Given the description of an element on the screen output the (x, y) to click on. 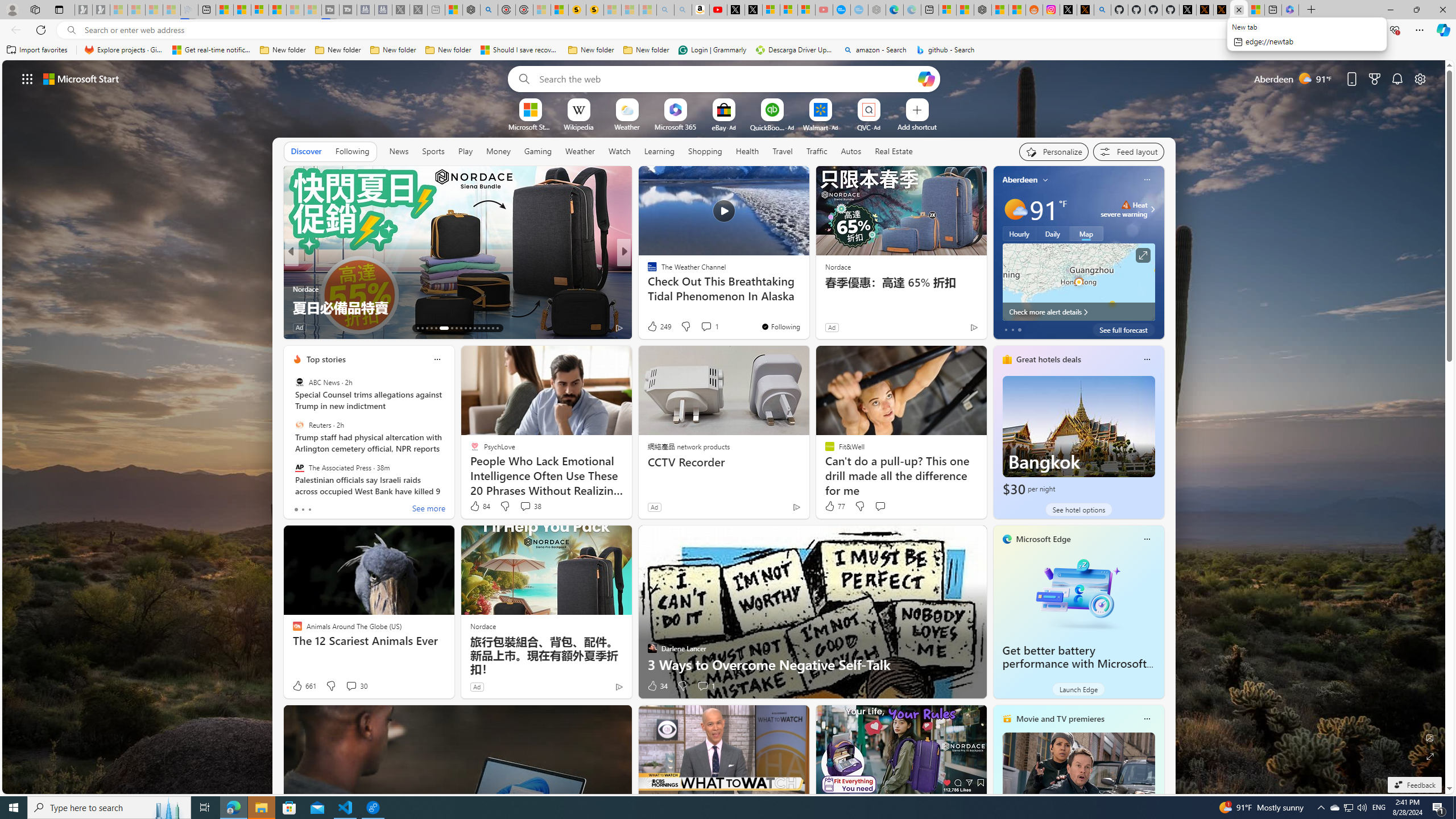
Gloom - YouTube - Sleeping (823, 9)
Weather (580, 151)
amazon - Search (875, 49)
github - Search (1102, 9)
661 Like (303, 685)
34 Like (657, 685)
Favorites bar (728, 49)
Nordace - Nordace has arrived Hong Kong - Sleeping (877, 9)
Larger map  (1077, 282)
